Given the description of an element on the screen output the (x, y) to click on. 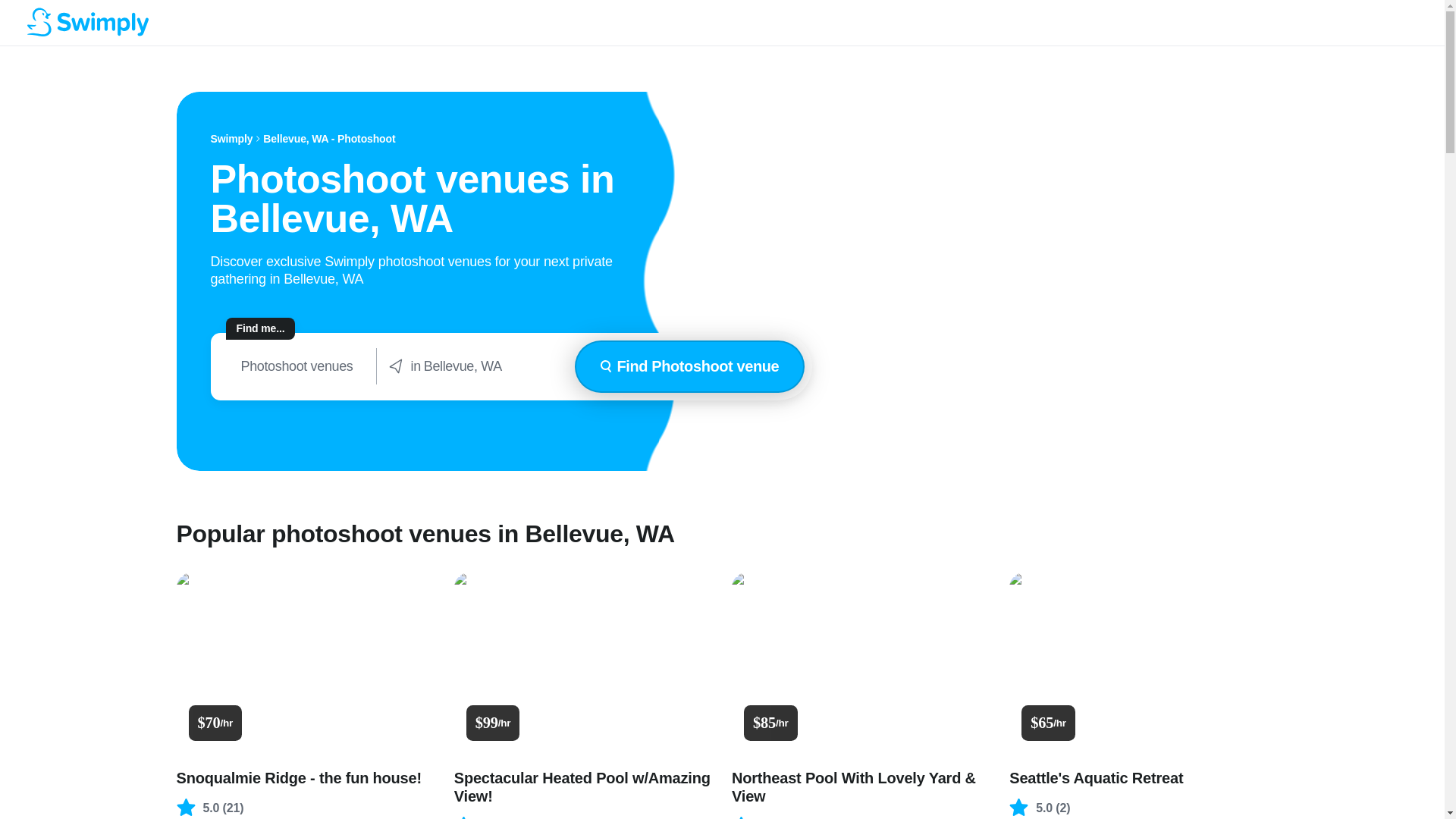
Swimply (232, 138)
Bellevue, WA - Photoshoot (328, 138)
Photoshoot venues (296, 366)
Find Photoshoot venue (690, 366)
